Given the description of an element on the screen output the (x, y) to click on. 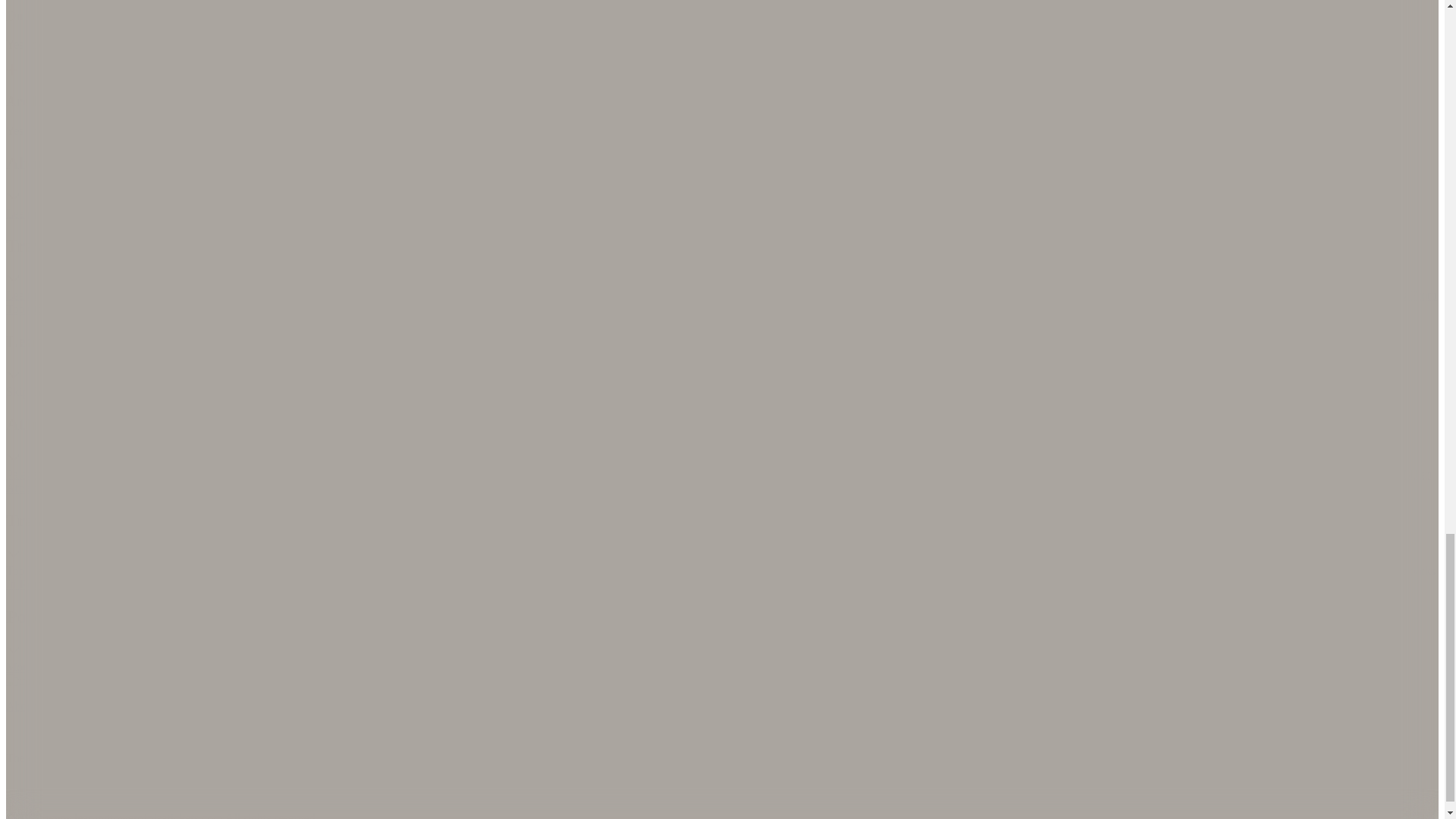
History Of Leaning Tower Of Pisa (384, 213)
About Leaning Tower Of Pisa (225, 213)
Leaning Tower Of Pisa Fall (1176, 213)
Facts About Leaning Tower Of Pisa (557, 213)
Leaning Tower Of Pisa Inside (78, 213)
Leaning Tower Of Pisa Architecture (880, 213)
Leaning Tower Of Pisa Height (719, 213)
Leaning Tower Of Pisa Bells (1038, 213)
